Given the description of an element on the screen output the (x, y) to click on. 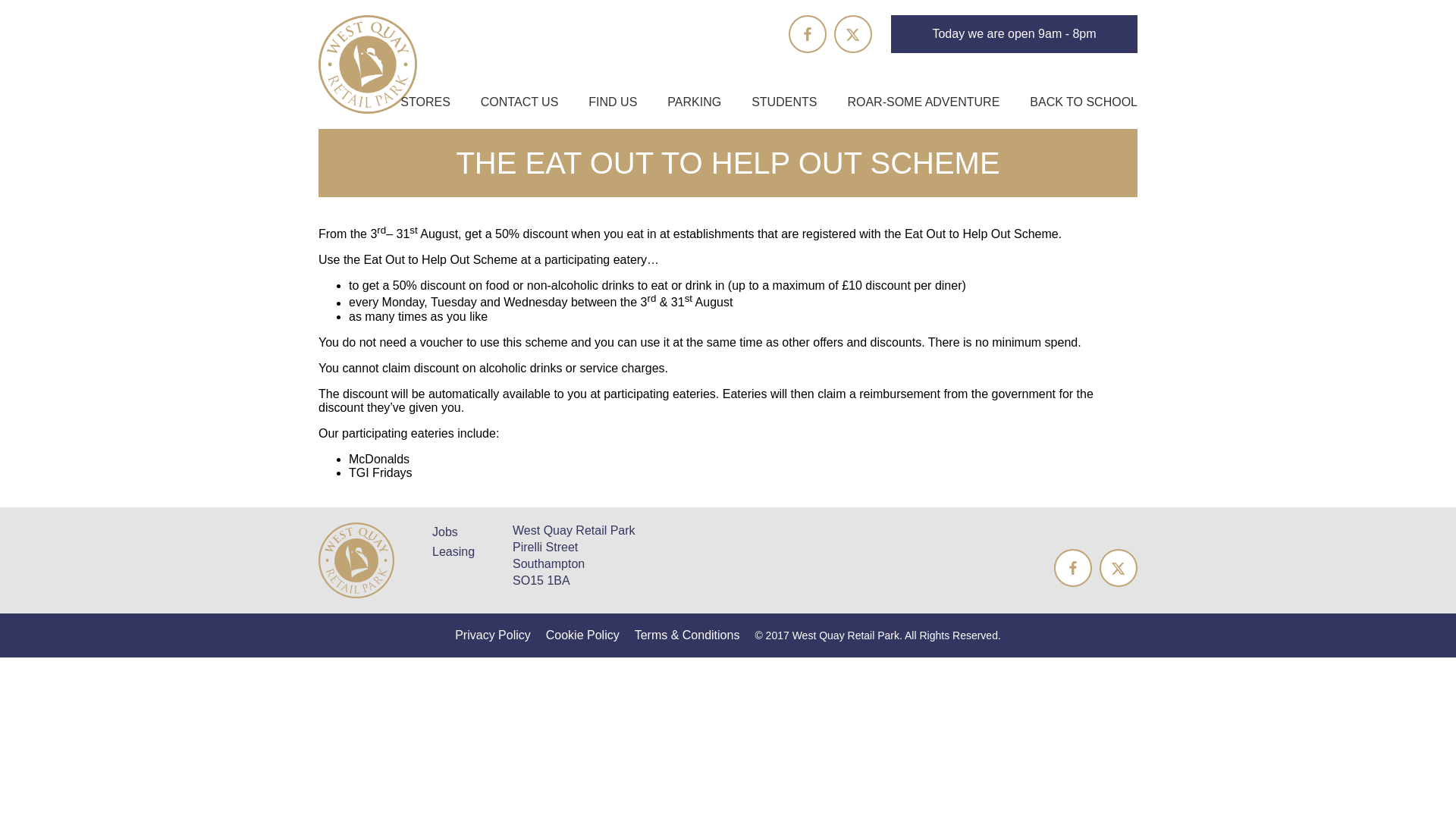
Facebook Link (1073, 567)
West Quay Retail Park - Retail Park in Southampton (356, 560)
CONTACT US (519, 101)
STUDENTS (783, 101)
Leasing (453, 551)
ROAR-SOME ADVENTURE (922, 101)
Cookie Policy (583, 634)
PARKING (693, 101)
Jobs (445, 531)
Twitter Link (853, 34)
